Given the description of an element on the screen output the (x, y) to click on. 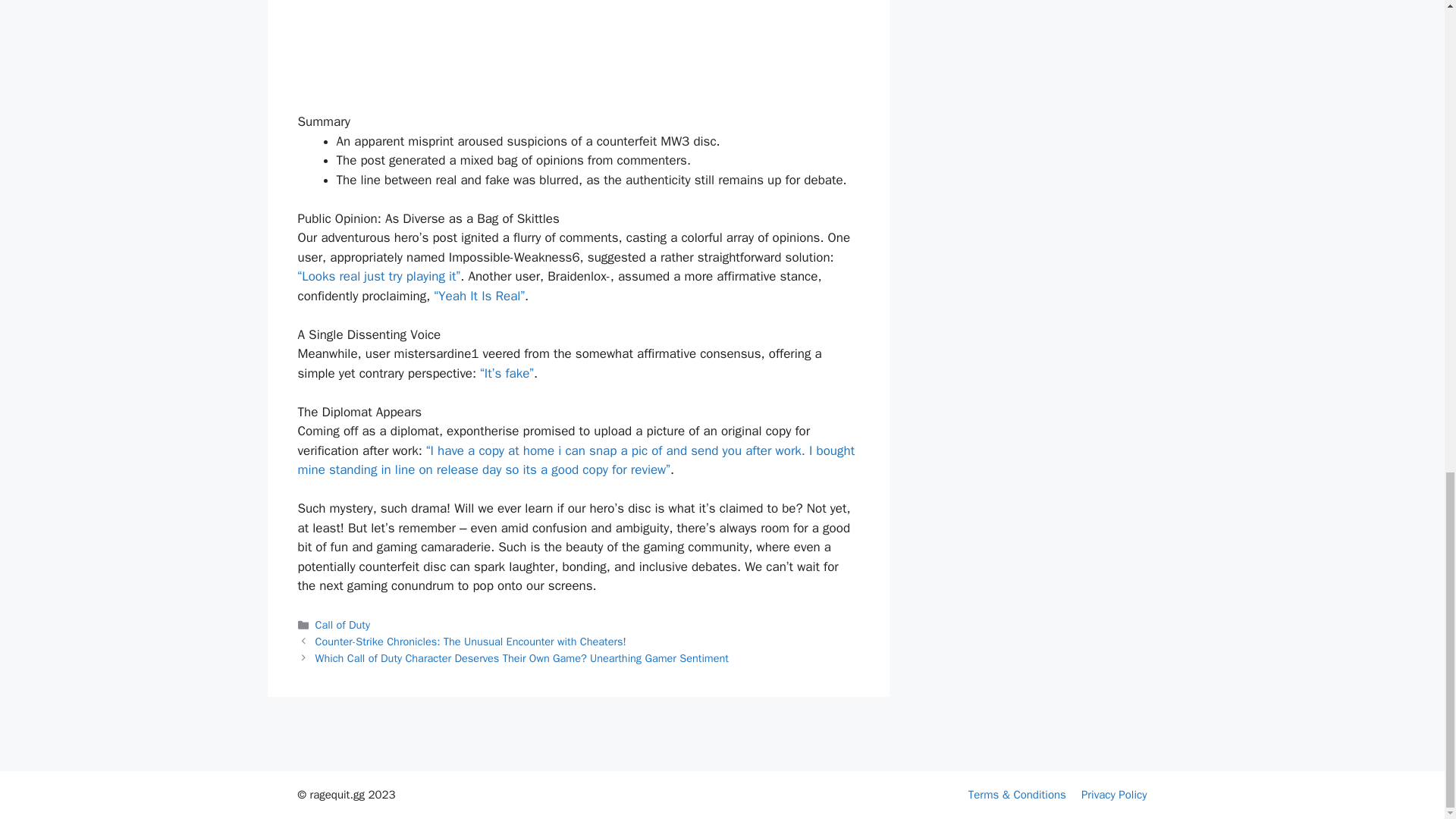
Privacy Policy (1114, 794)
Call of Duty (342, 624)
